Given the description of an element on the screen output the (x, y) to click on. 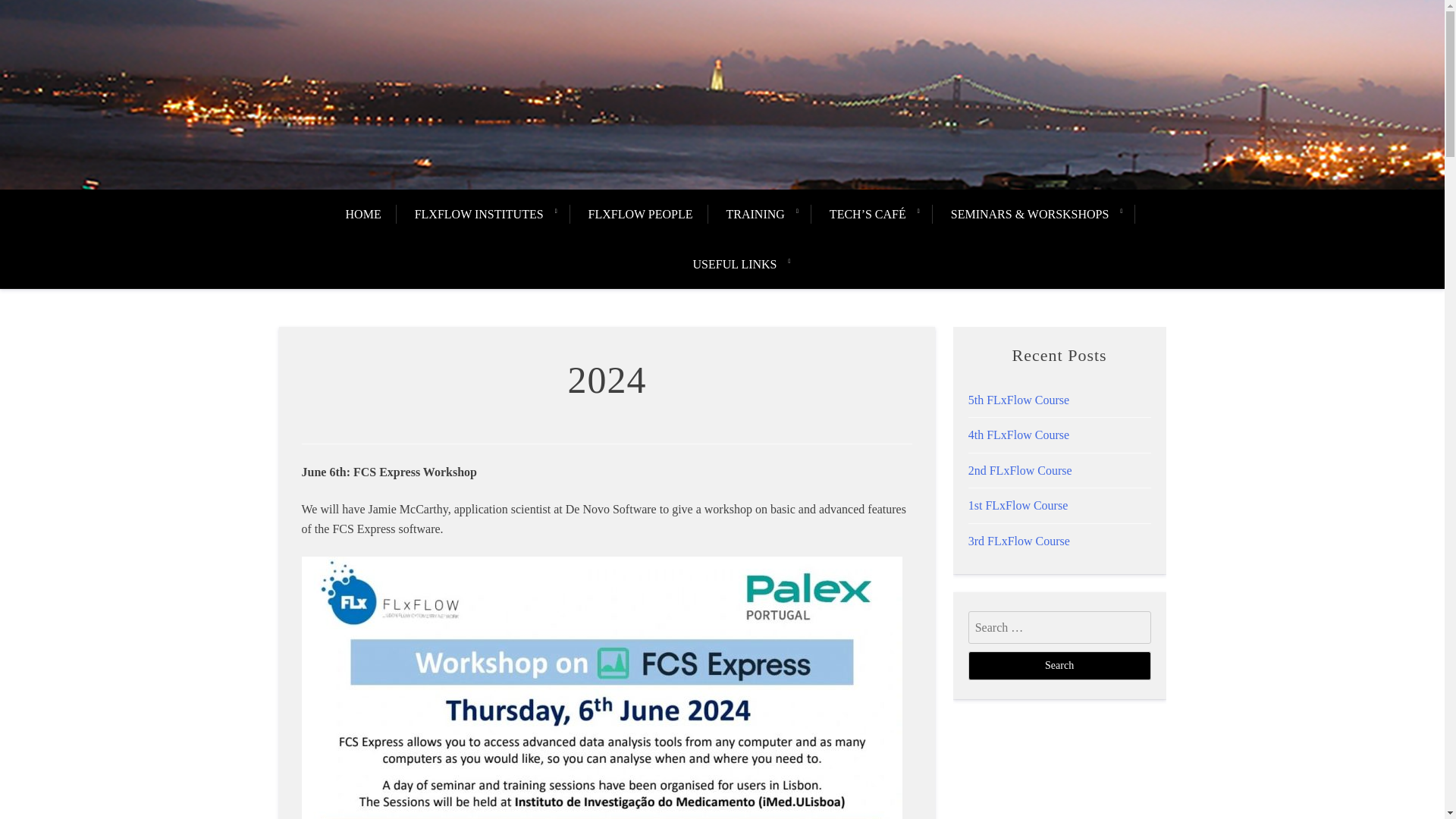
TRAINING (755, 214)
Search (1059, 665)
3rd FLxFlow Course (1019, 540)
5th FLxFlow Course (1018, 399)
Search (1059, 665)
USEFUL LINKS (735, 264)
2nd FLxFlow Course (1019, 470)
1st FLxFlow Course (1018, 504)
HOME (371, 214)
4th FLxFlow Course (1018, 434)
FLXFLOW PEOPLE (640, 214)
FLXFLOW INSTITUTES (478, 214)
Search (1059, 665)
